Given the description of an element on the screen output the (x, y) to click on. 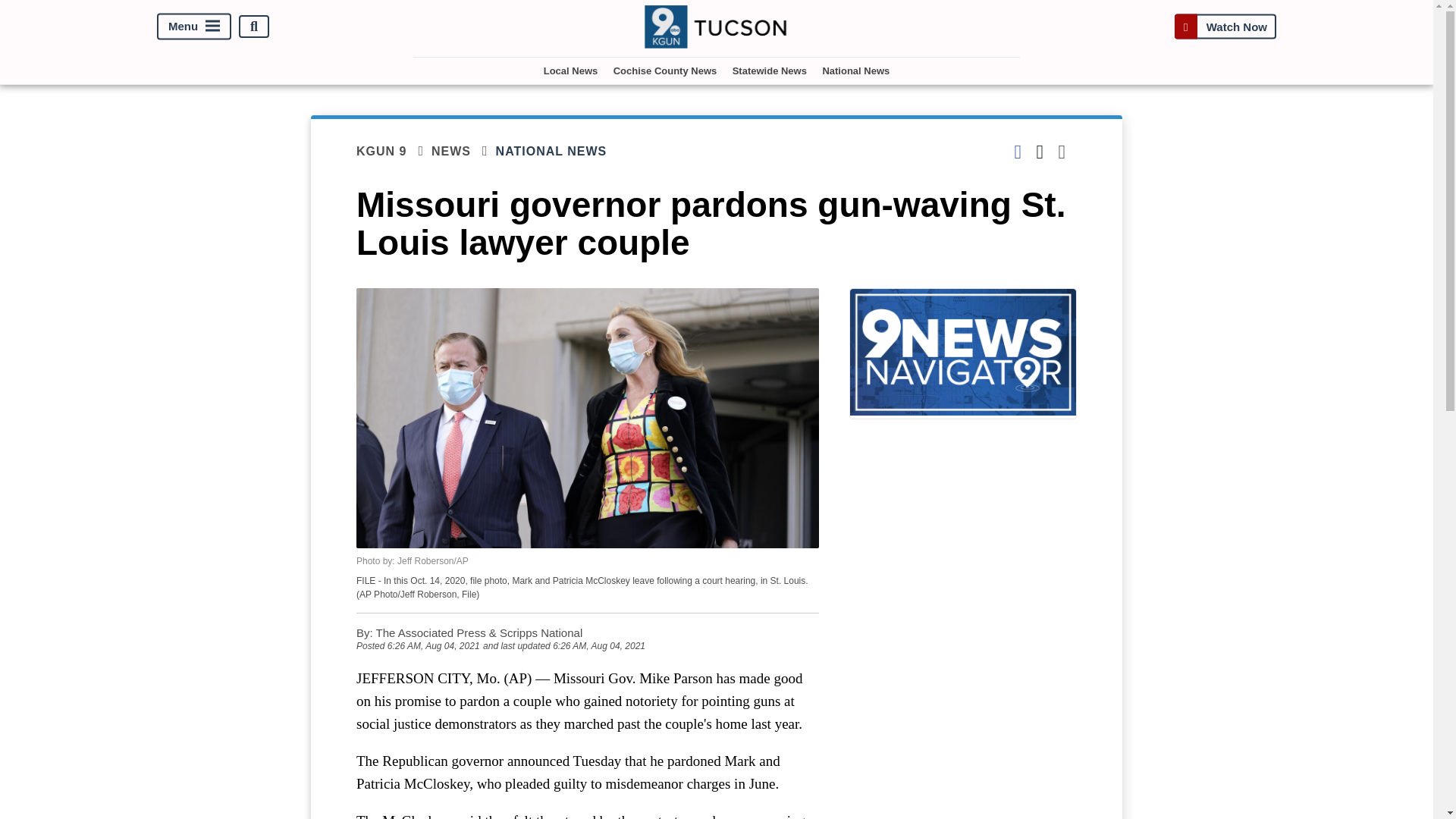
Watch Now (1224, 26)
Menu (194, 26)
